Given the description of an element on the screen output the (x, y) to click on. 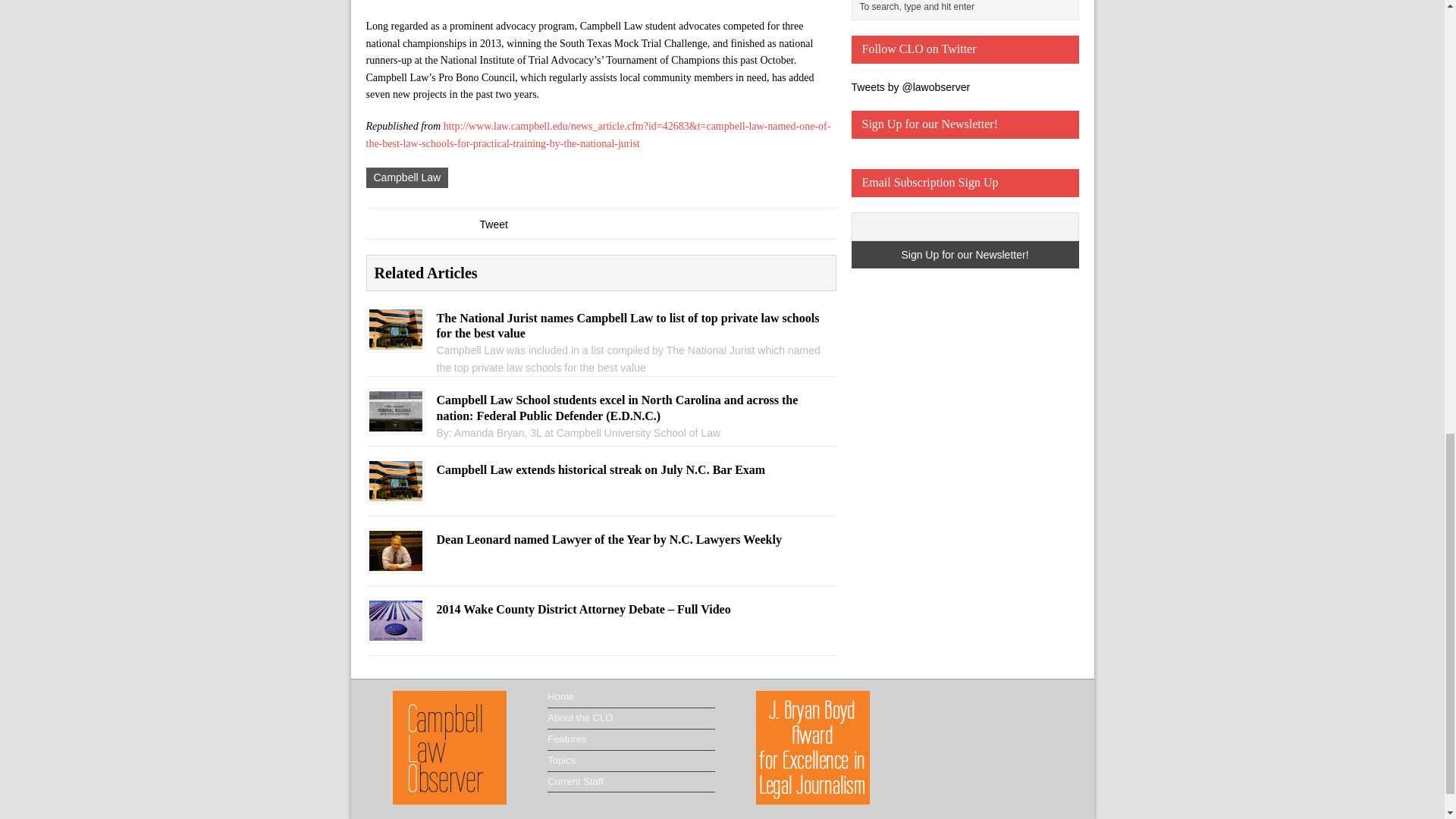
Dean Leonard named Lawyer of the Year by N.C. Lawyers Weekly (395, 562)
Tweet (492, 224)
Dean Leonard named Lawyer of the Year by N.C. Lawyers Weekly (600, 539)
Sign Up for our Newsletter! (964, 254)
Campbell Law extends historical streak on July N.C. Bar Exam (395, 492)
Campbell Law (406, 177)
To search, type and hit enter (968, 7)
Campbell Law extends historical streak on July N.C. Bar Exam (600, 470)
